Given the description of an element on the screen output the (x, y) to click on. 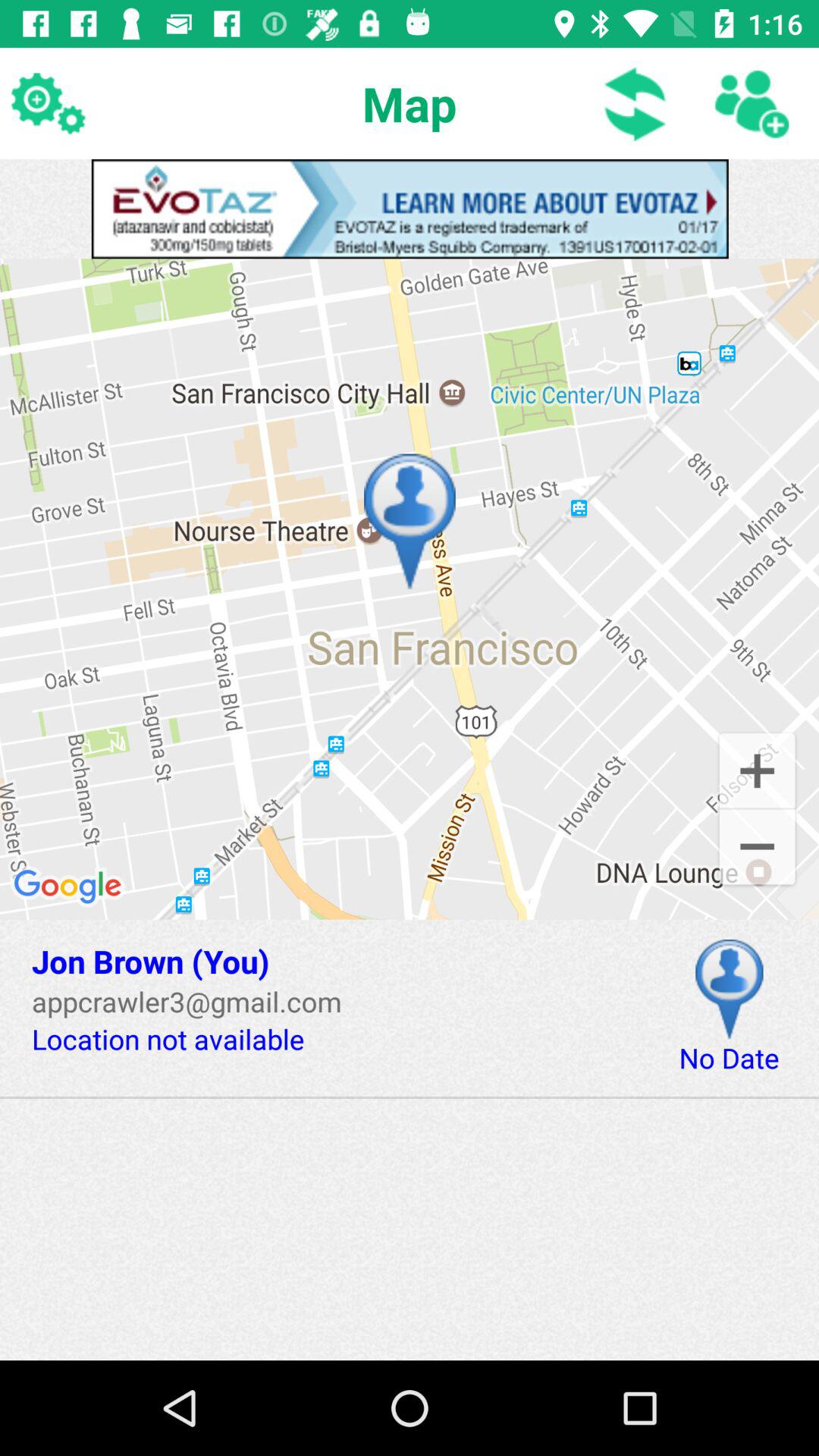
place pin (729, 989)
